Given the description of an element on the screen output the (x, y) to click on. 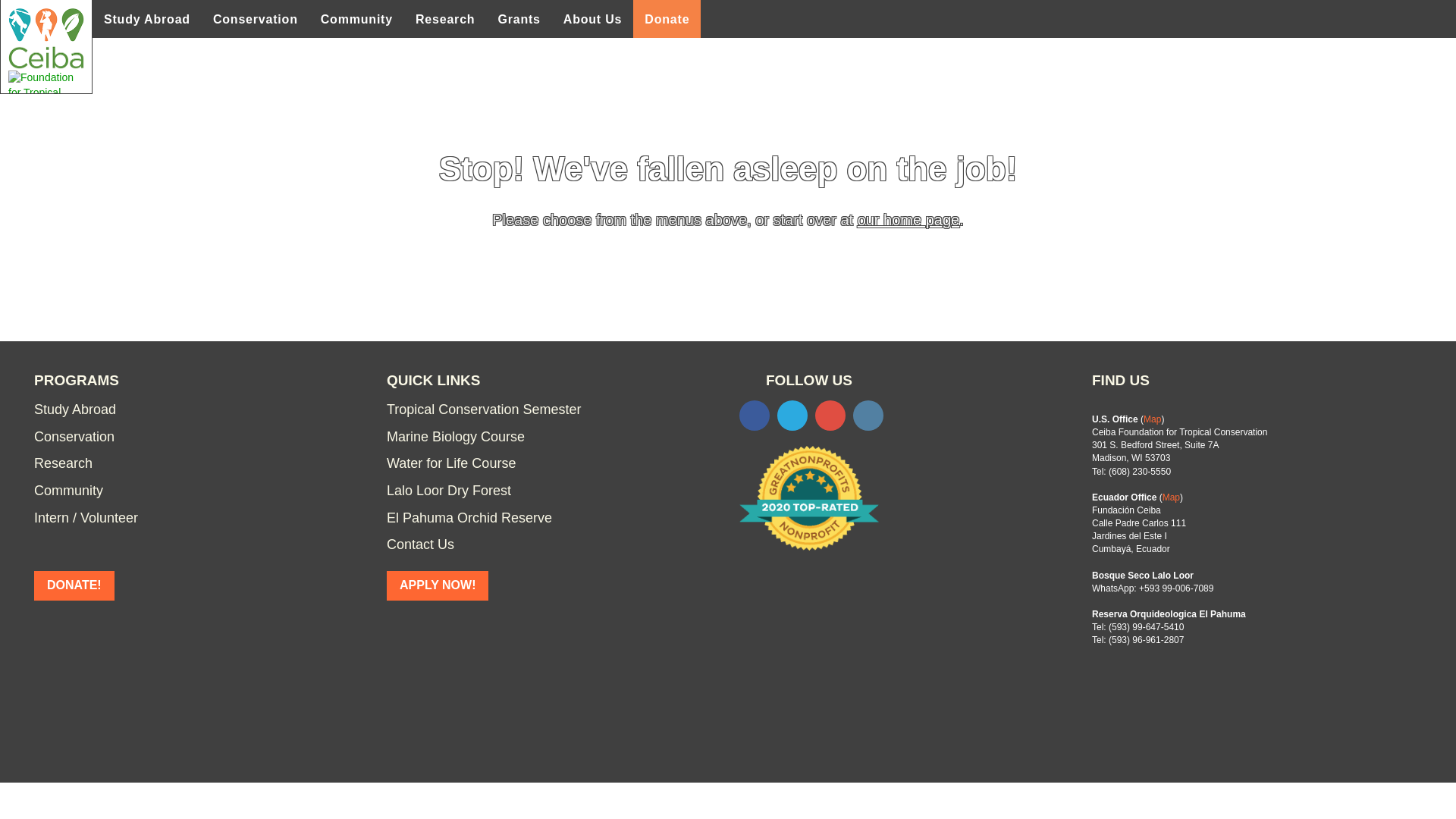
Study Abroad (147, 18)
Research (445, 18)
Community (356, 18)
Stop! We've fallen asleep on the job! (727, 168)
Grants (518, 18)
Conservation (255, 18)
About Us (592, 18)
